Given the description of an element on the screen output the (x, y) to click on. 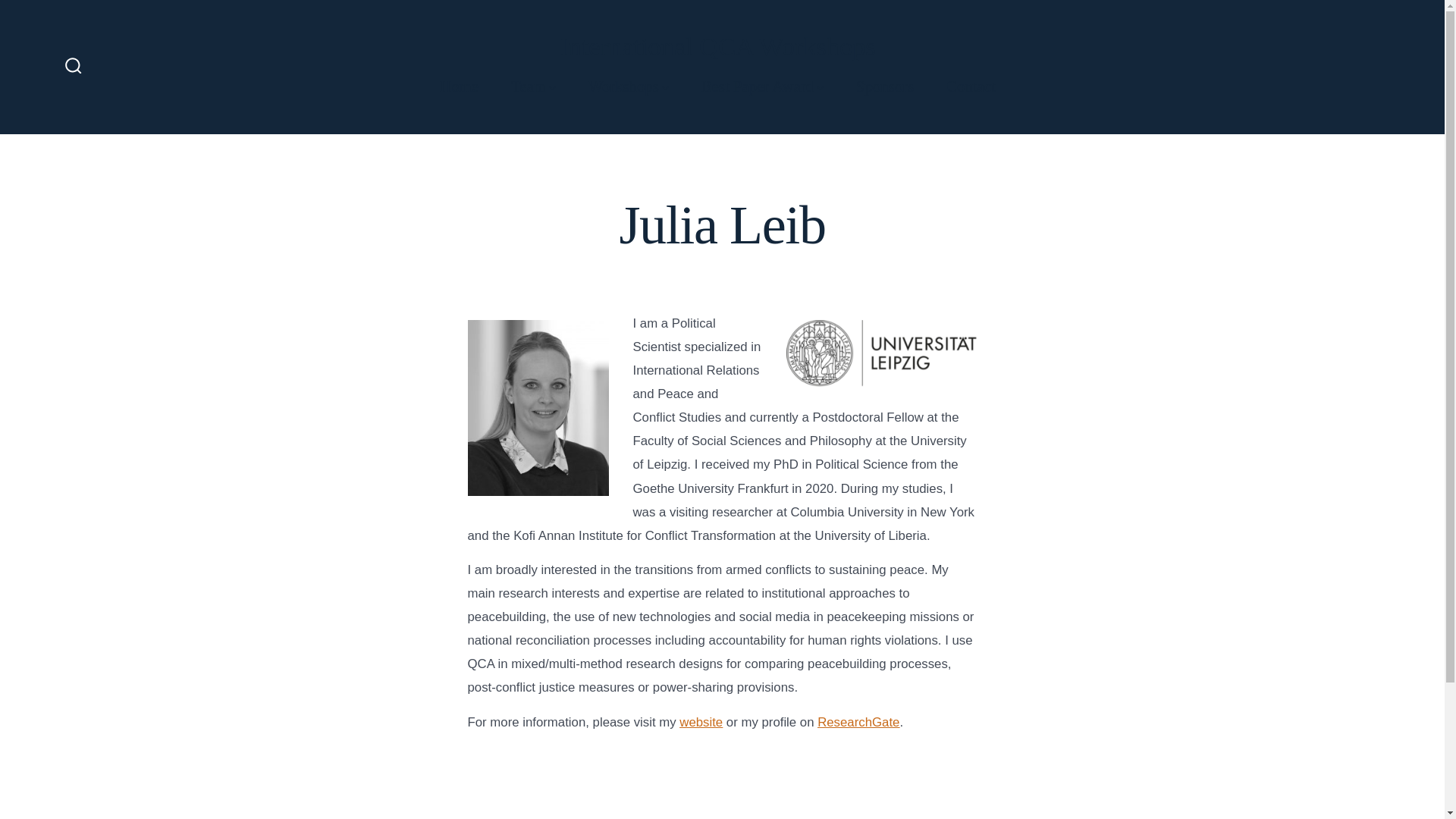
Best Paper Award (762, 86)
ResearchGate (857, 721)
website (700, 721)
Contact (970, 86)
Team (533, 86)
International QCA Workshops (717, 47)
Home (459, 86)
Workshops (628, 86)
Search Toggle (73, 66)
Sponsors (885, 86)
